Given the description of an element on the screen output the (x, y) to click on. 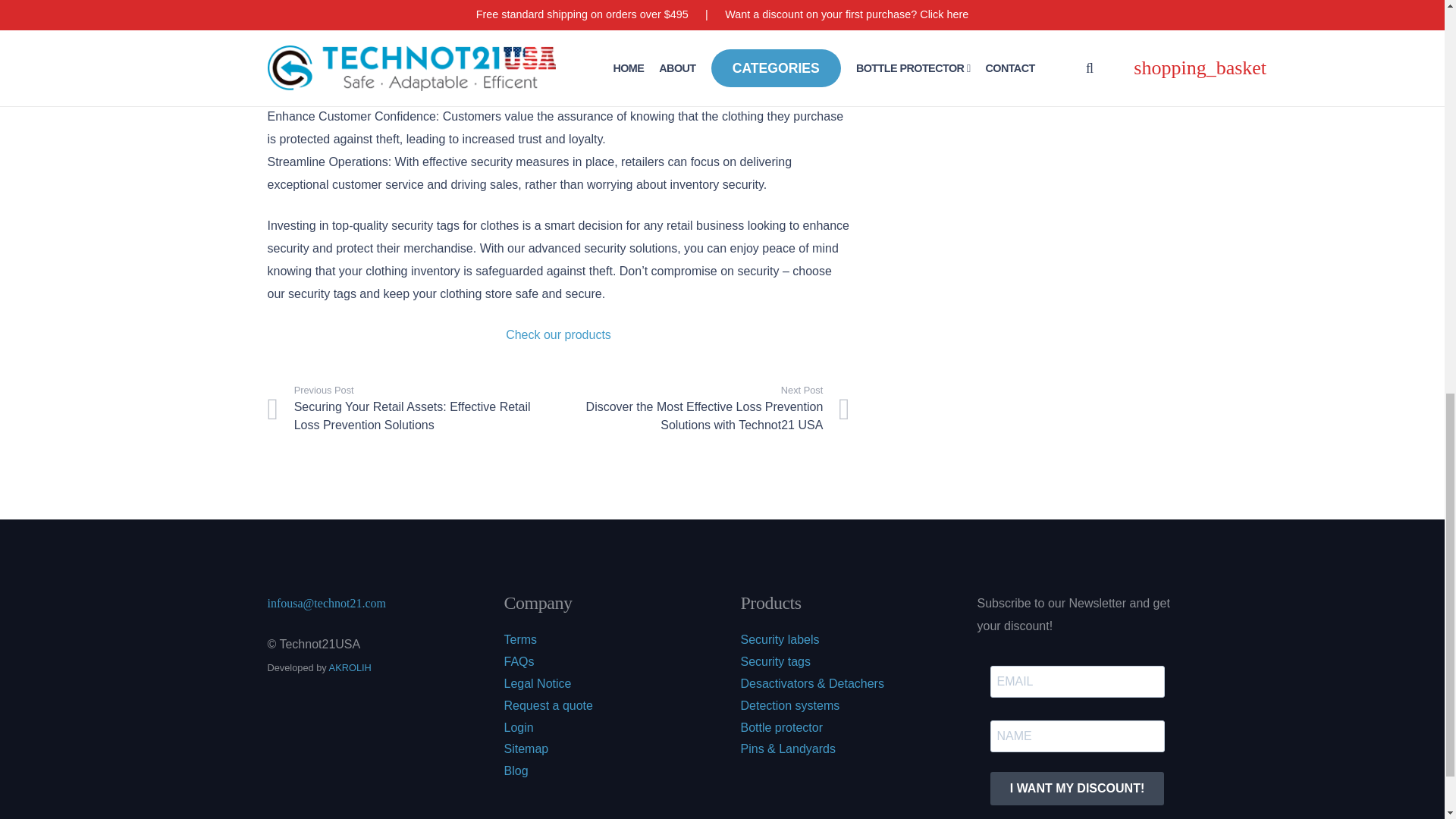
Check our products (558, 334)
FAQs (518, 661)
Request a quote (547, 705)
AKROLIH (350, 667)
Security tags (774, 661)
Back to top (1413, 26)
Legal Notice (536, 683)
